Given the description of an element on the screen output the (x, y) to click on. 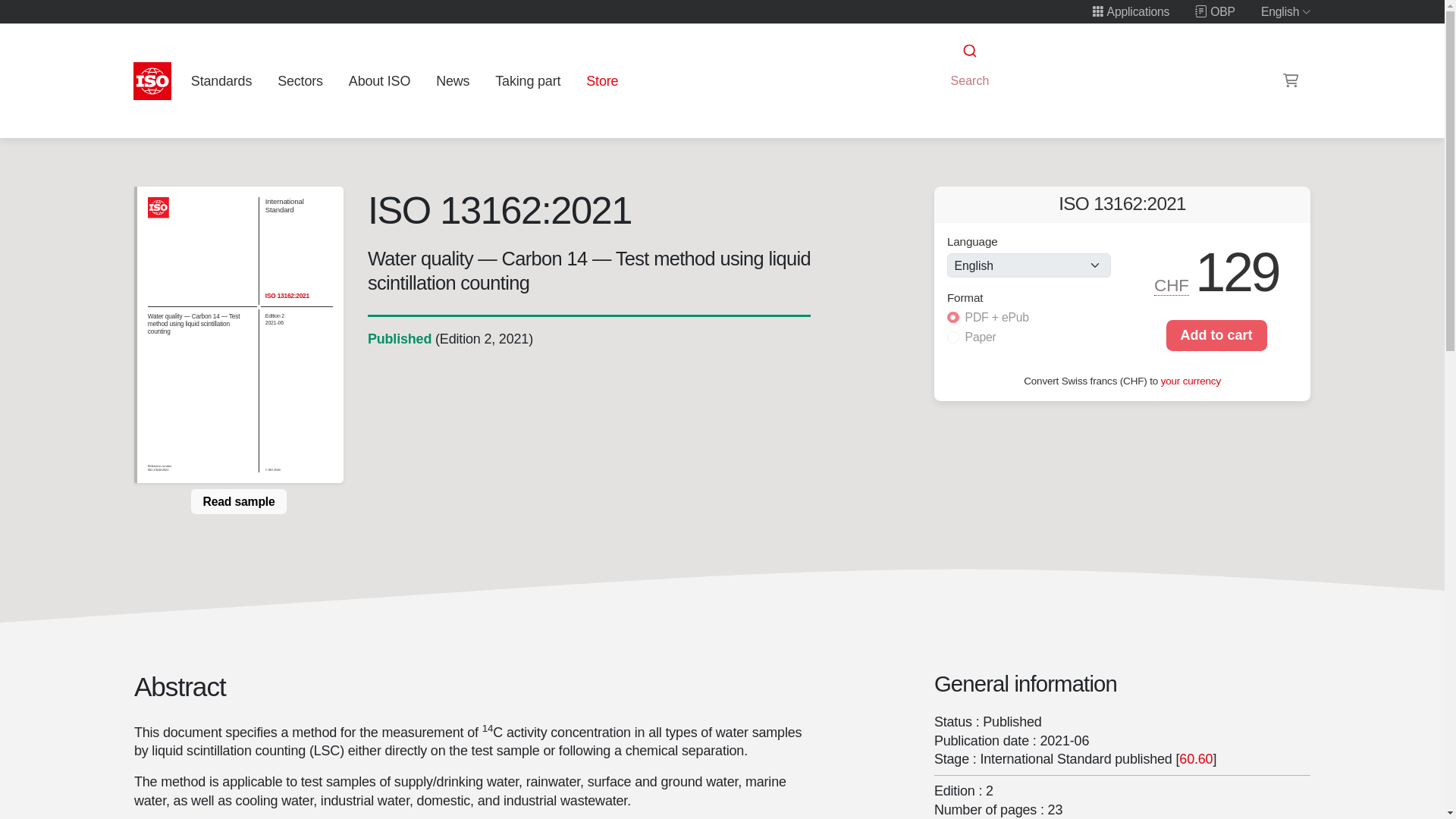
60.60 (1195, 758)
 Applications (1130, 11)
your currency (1190, 379)
Swiss francs (1171, 285)
 OBP (1214, 11)
Online Browsing Platform (1214, 11)
International Organization for Standardization (152, 80)
60.60 (1195, 758)
English (1285, 11)
Life cycle (398, 338)
Published (398, 338)
